Given the description of an element on the screen output the (x, y) to click on. 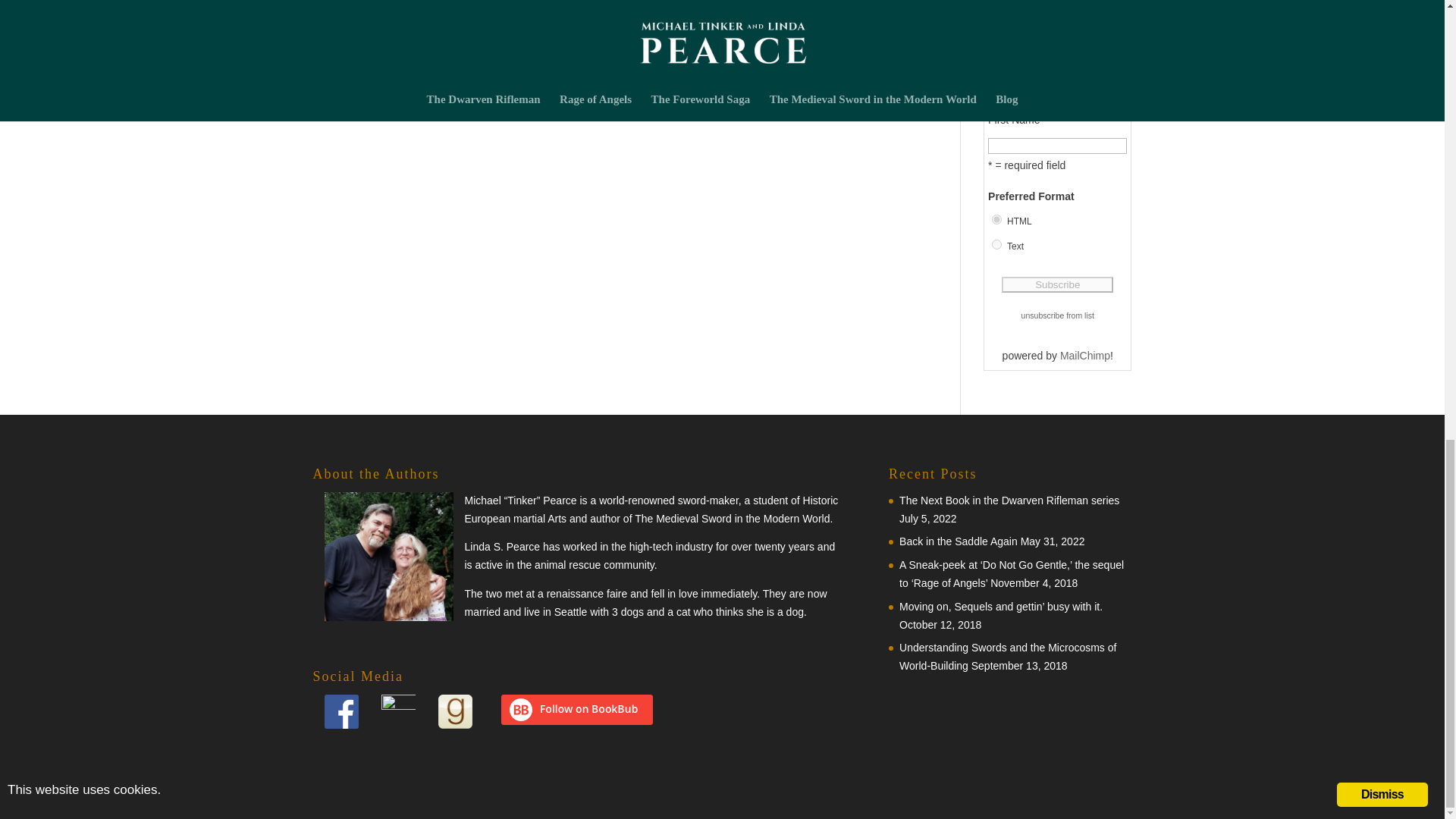
Subscribe (1057, 284)
Back in the Saddle Again (958, 541)
html (996, 219)
Tinkerswords (1015, 3)
Tinkerpearcetacticals (1033, 26)
Understanding Swords and the Microcosms of World-Building (1007, 656)
unsubscribe from list (1058, 315)
text (996, 244)
MailChimp (1084, 355)
The Next Book in the Dwarven Rifleman series (1009, 500)
Subscribe (1057, 284)
